Given the description of an element on the screen output the (x, y) to click on. 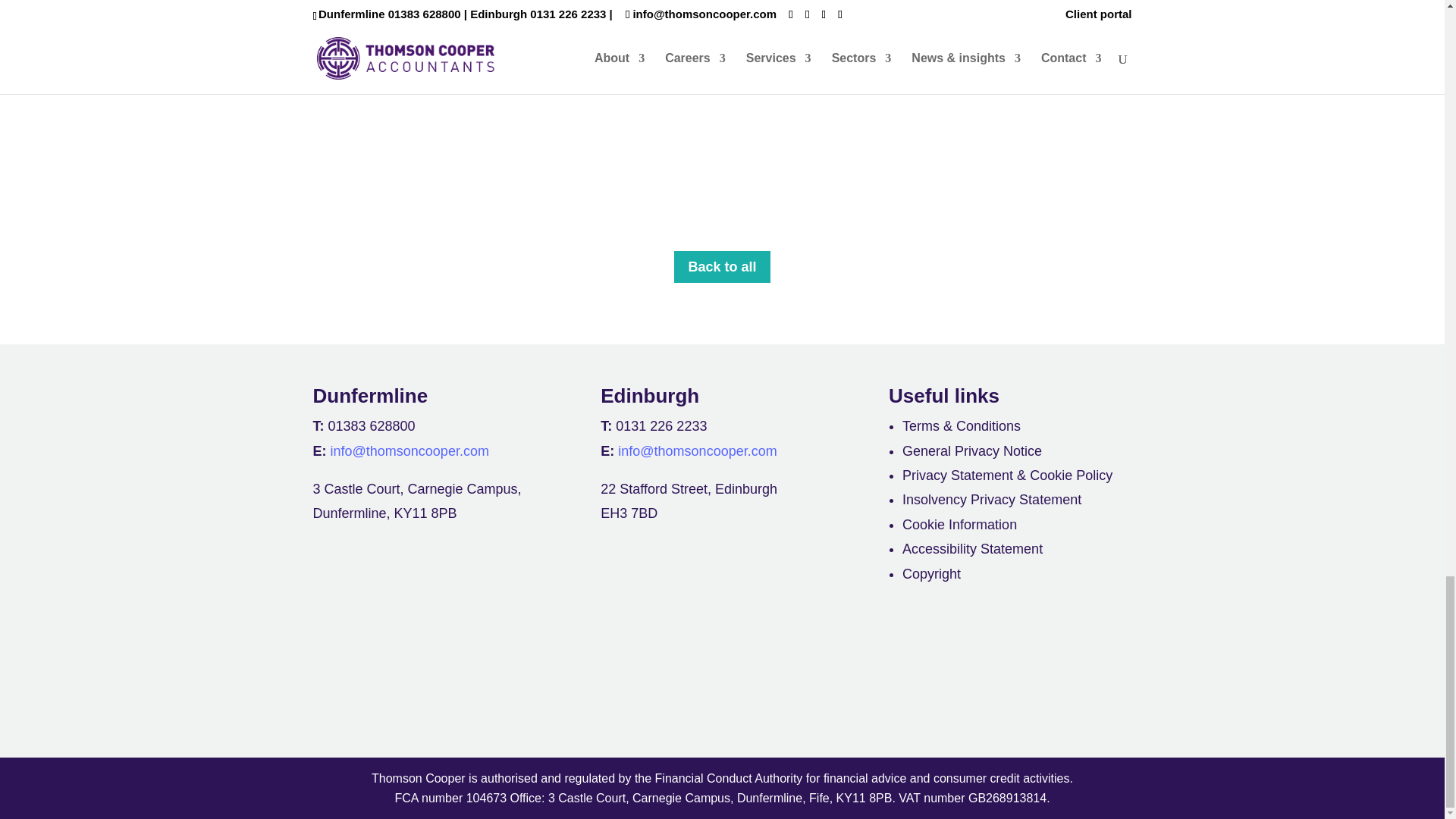
Living Wage Employer (1082, 687)
CyberEssentialsBadgeHighRes (937, 687)
ICAS new (362, 684)
r3-logo (793, 688)
ACCA (513, 688)
